Given the description of an element on the screen output the (x, y) to click on. 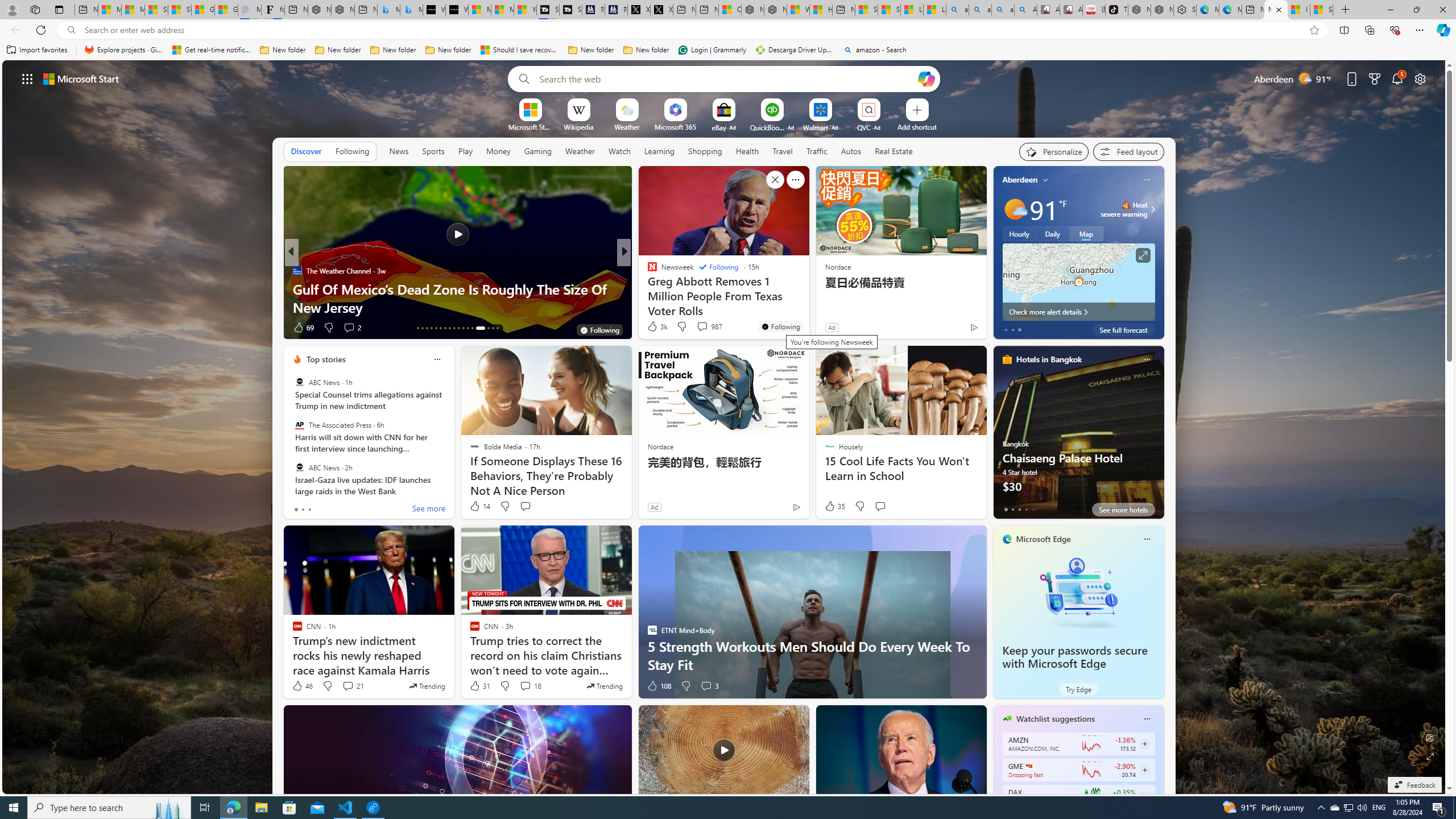
Health (746, 151)
Hourly (1018, 233)
View comments 85 Comment (704, 327)
Streaming Coverage | T3 (547, 9)
AutomationID: tab-21 (454, 328)
AutomationID: tab-25 (472, 328)
tab-0 (1005, 509)
Microsoft Edge (1043, 538)
tab-2 (1019, 509)
AutomationID: tab-15 (426, 328)
What's the best AI voice generator? - voice.ai (457, 9)
Watch (619, 151)
AutomationID: tab-13 (417, 328)
